Given the description of an element on the screen output the (x, y) to click on. 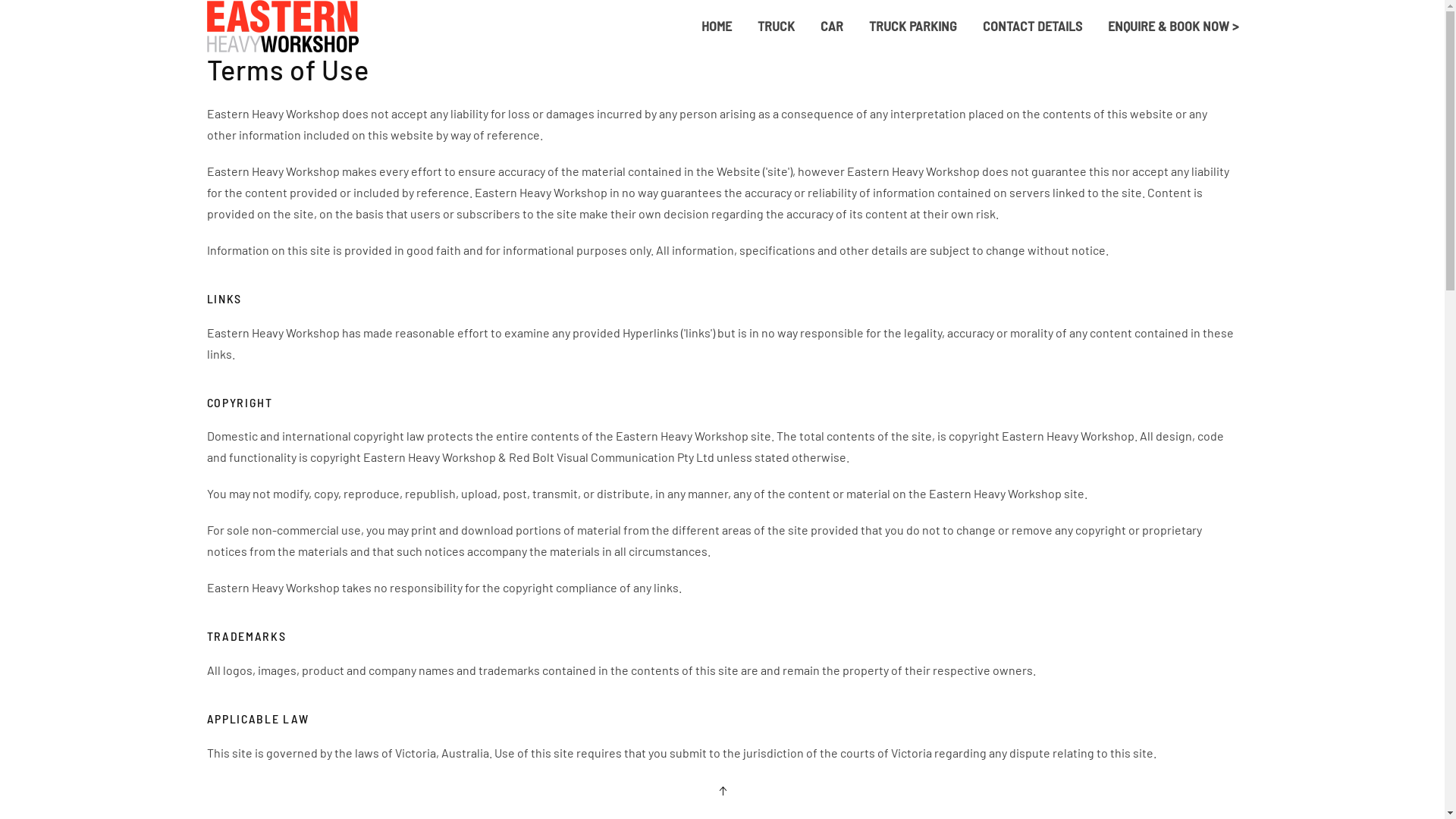
HOME Element type: text (716, 26)
Back to top Element type: hover (722, 790)
TRUCK Element type: text (775, 26)
TRUCK PARKING Element type: text (912, 26)
CAR Element type: text (830, 26)
CONTACT DETAILS Element type: text (1031, 26)
ENQUIRE & BOOK NOW > Element type: text (1173, 26)
